Given the description of an element on the screen output the (x, y) to click on. 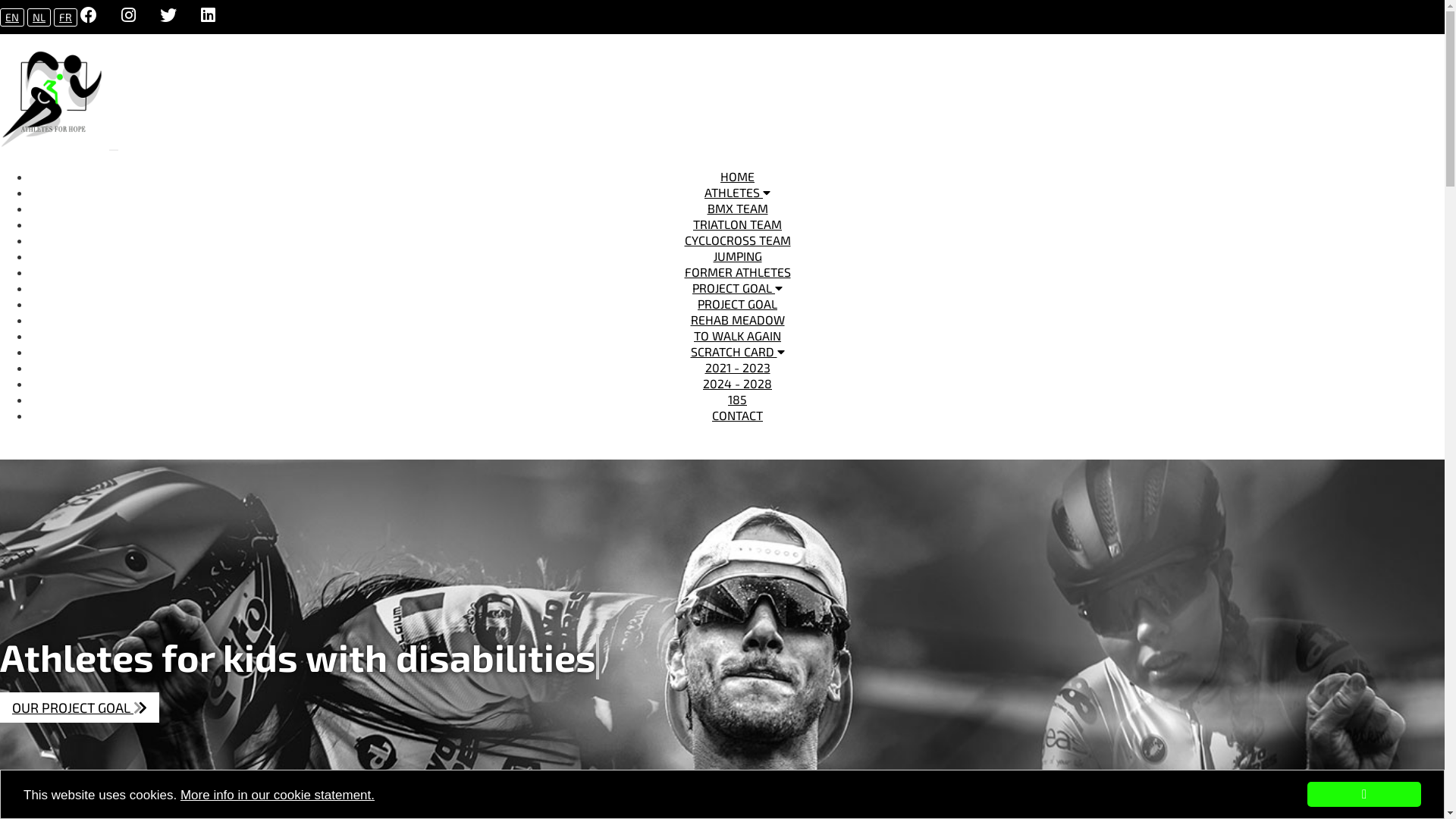
2024 - 2028 Element type: text (165, 362)
TRIATLON TEAM Element type: text (737, 223)
JUMPING Element type: text (391, 203)
REHAB MEADOW Element type: text (192, 299)
FORMER ATHLETES Element type: text (491, 203)
CYCLOCROSS TEAM Element type: text (291, 203)
BMX TEAM Element type: text (73, 203)
BMX TEAM Element type: text (736, 207)
2021 - 2023 Element type: text (737, 367)
JUMPING Element type: text (736, 255)
REHAB MEADOW Element type: text (737, 319)
CONTACT Element type: text (737, 414)
EN Element type: text (12, 17)
NL Element type: text (38, 17)
HOME Element type: text (737, 176)
TO WALK AGAIN Element type: text (305, 299)
ATHLETES Element type: text (737, 192)
FORMER ATHLETES Element type: text (737, 271)
OUR PROJECT GOAL  Element type: text (79, 707)
PROJECT GOAL Element type: text (737, 287)
185 Element type: text (737, 399)
TRIATLON TEAM Element type: text (170, 203)
2021 - 2023 Element type: text (75, 362)
PROJECT GOAL Element type: text (82, 299)
2024 - 2028 Element type: text (736, 383)
PROJECT GOAL Element type: text (737, 303)
TO WALK AGAIN Element type: text (737, 335)
SCRATCH CARD Element type: text (737, 351)
FR Element type: text (65, 17)
CYCLOCROSS TEAM Element type: text (737, 239)
